Given the description of an element on the screen output the (x, y) to click on. 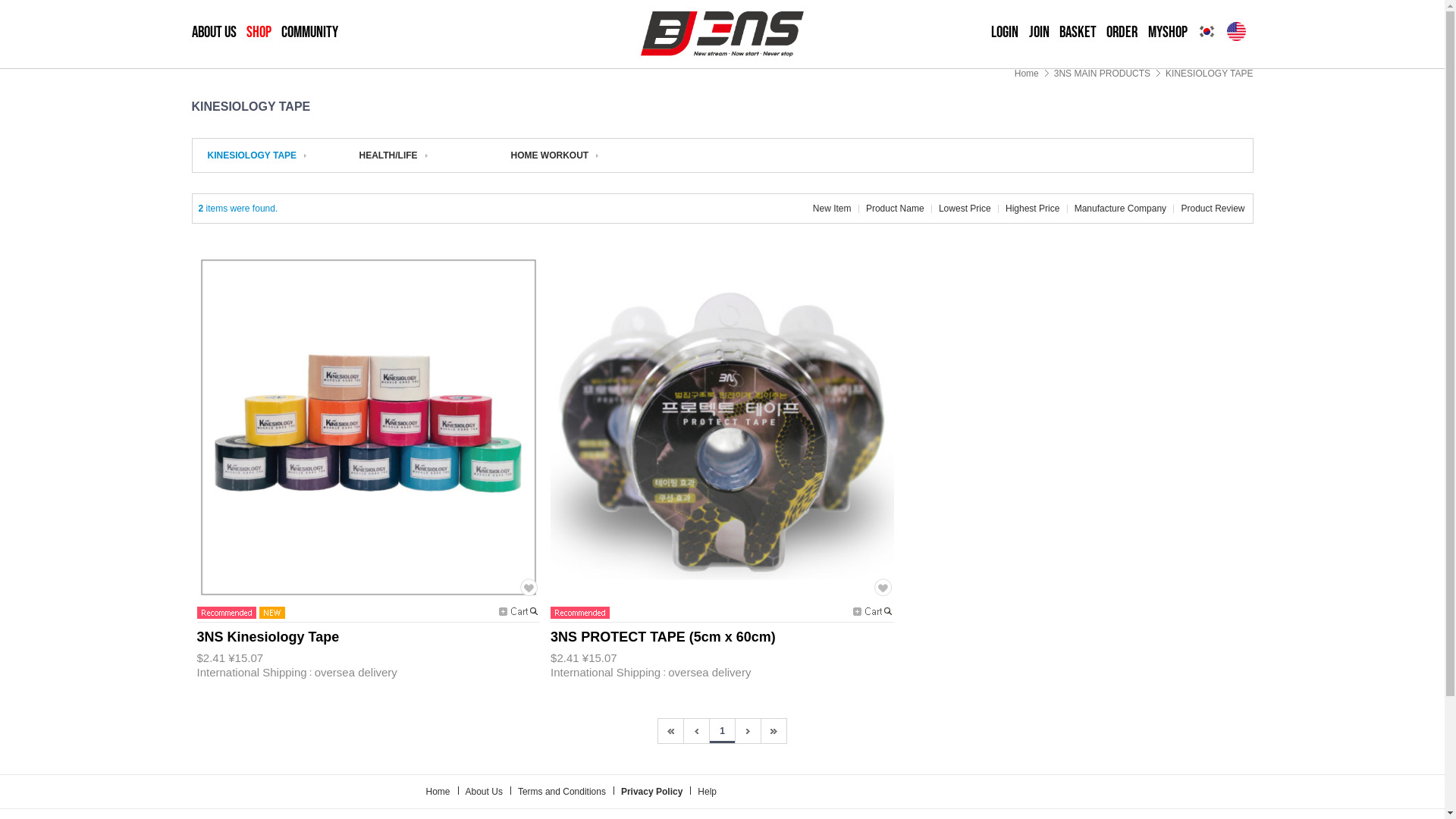
3NS Kinesiology Tape Element type: text (268, 638)
Product Review Element type: text (1212, 208)
Basket Element type: text (1077, 32)
Home Element type: text (438, 791)
Manufacture Company Element type: text (1120, 208)
Product Name Element type: text (895, 208)
ABOUT US Element type: text (213, 32)
Login Element type: text (1004, 32)
Privacy Policy Element type: text (651, 791)
SHOP Element type: text (258, 32)
COMMUNITY Element type: text (309, 32)
Highest Price Element type: text (1032, 208)
HOME WORKOUT Element type: text (555, 155)
Home Element type: text (1026, 73)
3NS PROTECT TAPE (5cm x 60cm) Element type: text (662, 638)
Order Element type: text (1121, 32)
KINESIOLOGY TAPE Element type: text (257, 155)
Lowest Price Element type: text (964, 208)
MyShop Element type: text (1167, 32)
Terms and Conditions Element type: text (561, 791)
KINESIOLOGY TAPE Element type: text (1208, 73)
Join Element type: text (1039, 32)
Help Element type: text (706, 791)
HEALTH/LIFE Element type: text (393, 155)
1 Element type: text (721, 730)
3NS MAIN PRODUCTS Element type: text (1102, 73)
New Item Element type: text (831, 208)
About Us Element type: text (483, 791)
